Given the description of an element on the screen output the (x, y) to click on. 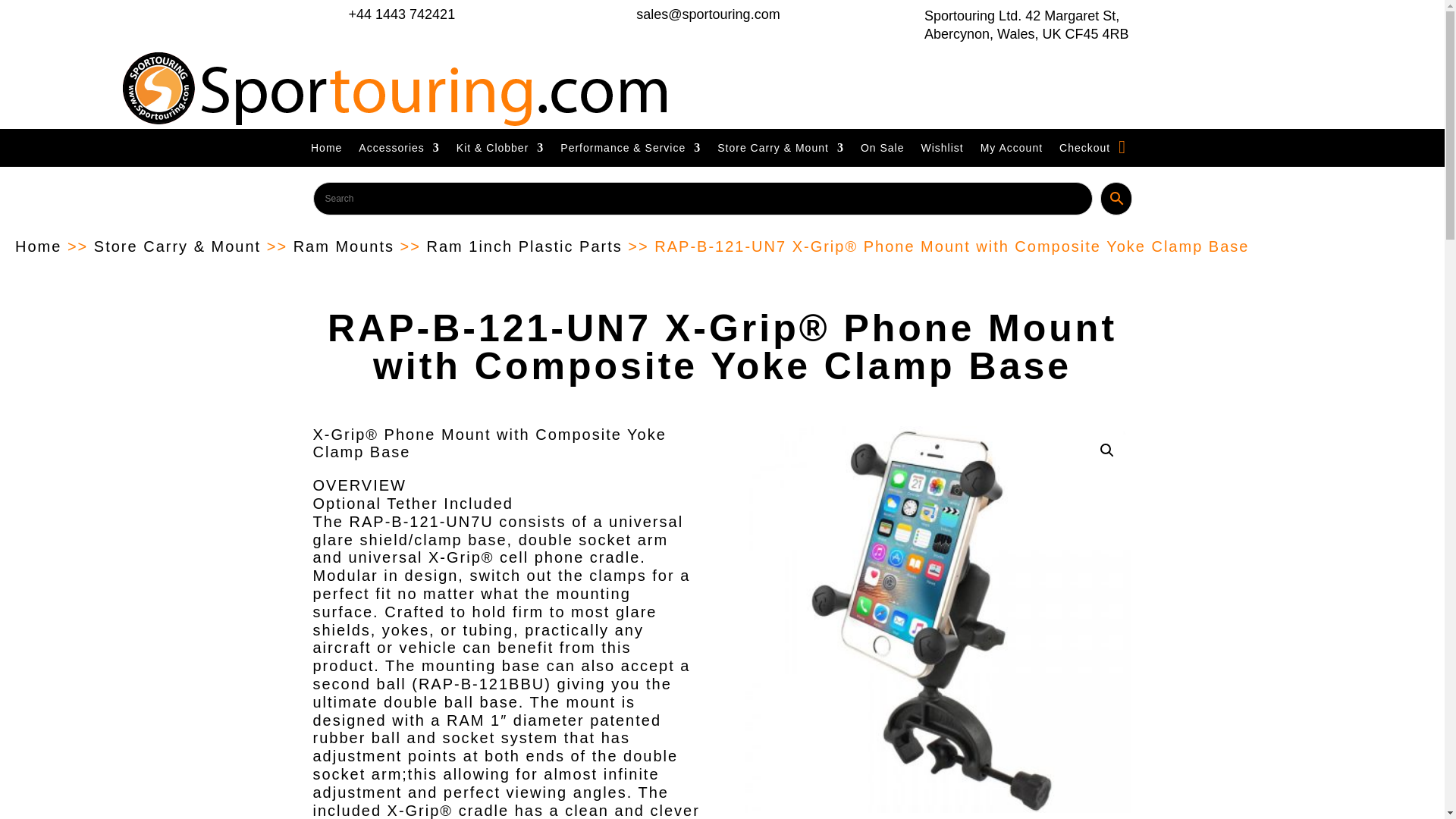
Sportouring Logo (397, 89)
Accessories (398, 150)
Home (326, 150)
